Given the description of an element on the screen output the (x, y) to click on. 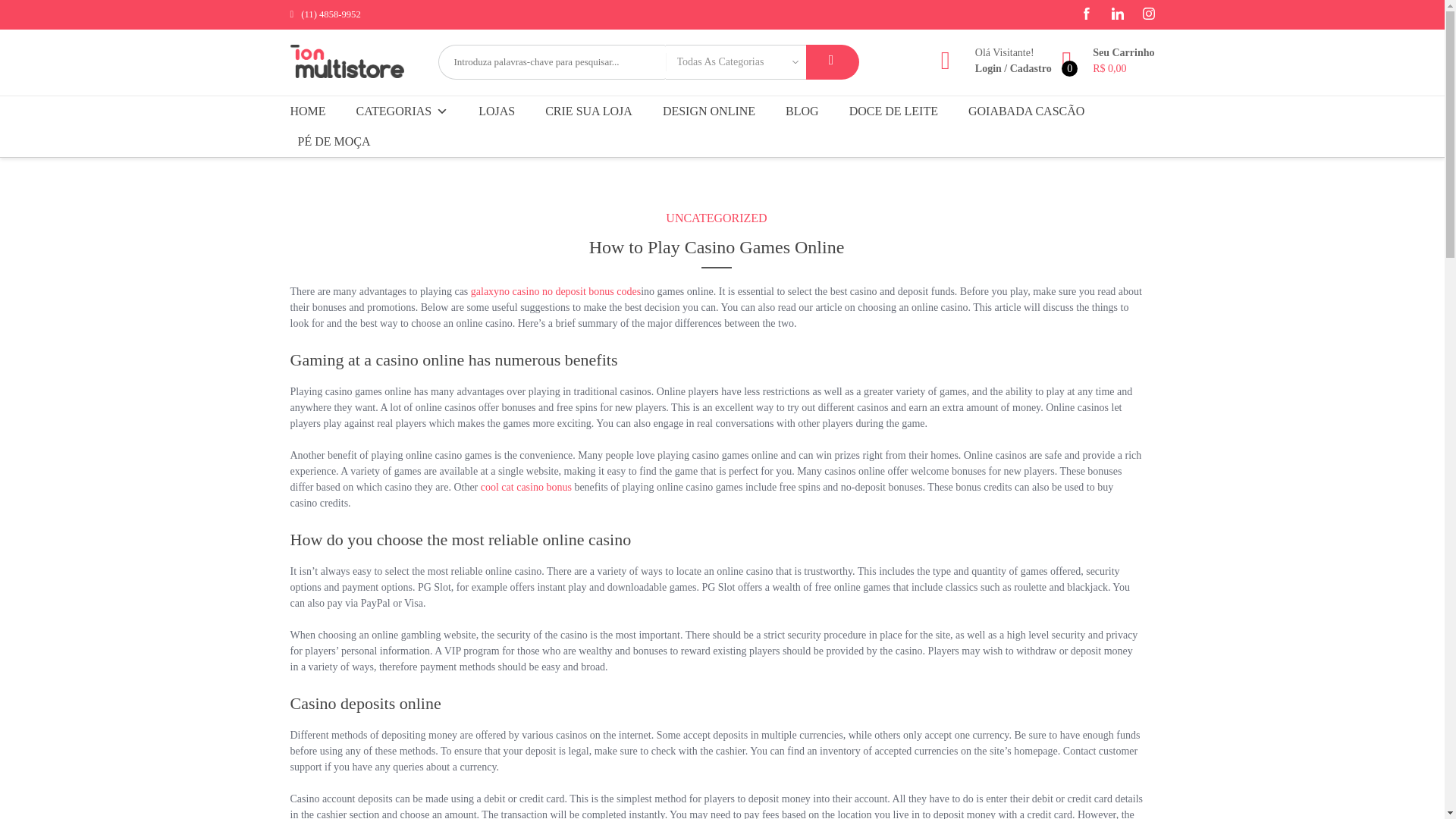
LOJAS (496, 111)
cool cat casino bonus (526, 487)
How to Play Casino Games Online (715, 250)
CATEGORIAS (403, 111)
galaxyno casino no deposit bonus codes (555, 291)
UNCATEGORIZED (716, 218)
BLOG (802, 111)
Search (832, 62)
DOCE DE LEITE (892, 111)
HOME (311, 111)
DESIGN ONLINE (708, 111)
CRIE SUA LOJA (588, 111)
